Given the description of an element on the screen output the (x, y) to click on. 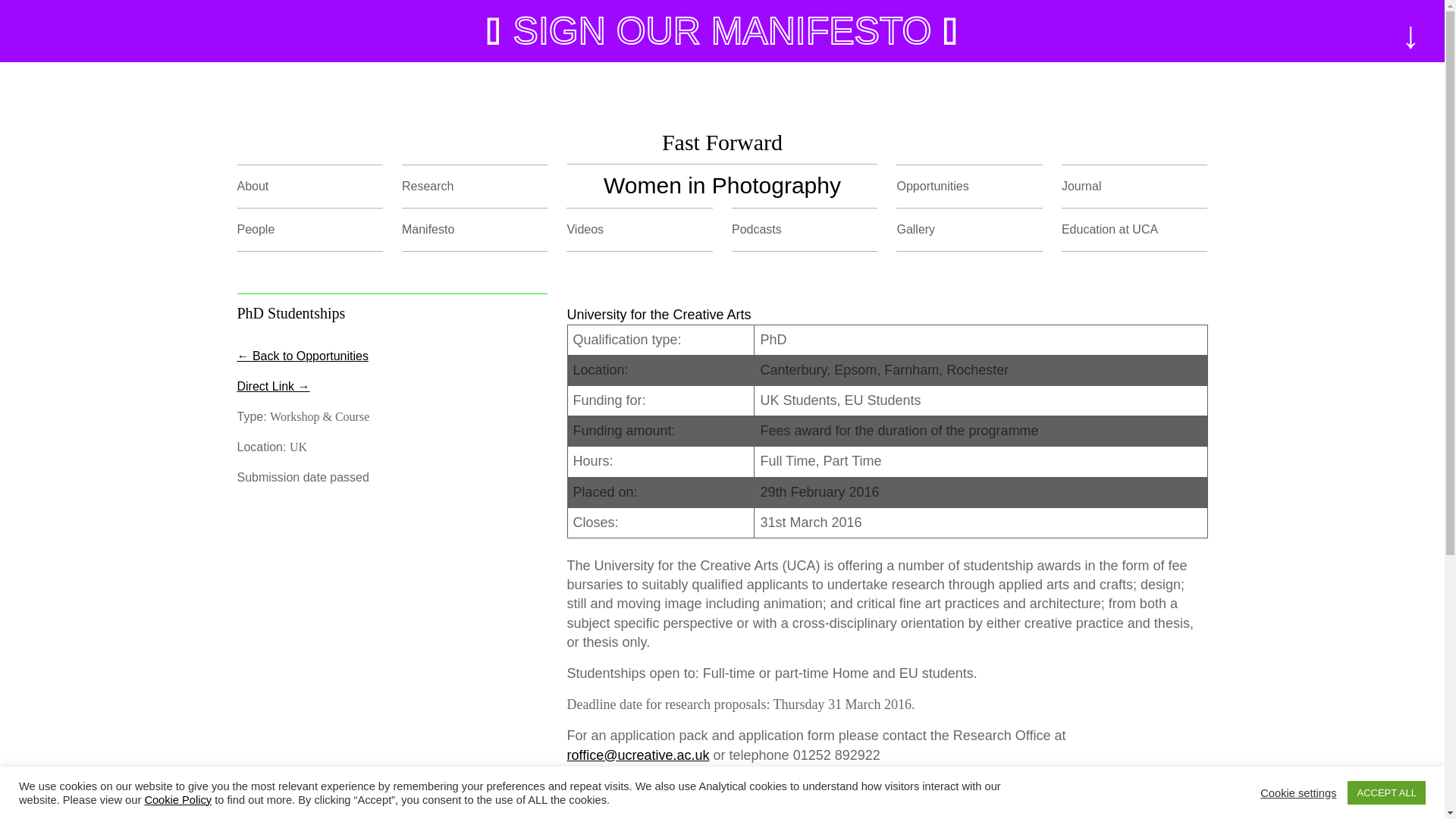
Cookie settings (1298, 792)
Education at UCA (1109, 228)
Manifesto (427, 228)
Cookie Policy (177, 799)
Videos (585, 228)
About (251, 185)
Gallery (915, 228)
Link to Opportunity Website (271, 386)
Research (426, 185)
People (255, 228)
ACCEPT ALL (1386, 792)
Podcasts (756, 228)
Fast Forward (722, 140)
Opportunities (932, 185)
Journal (1080, 185)
